Given the description of an element on the screen output the (x, y) to click on. 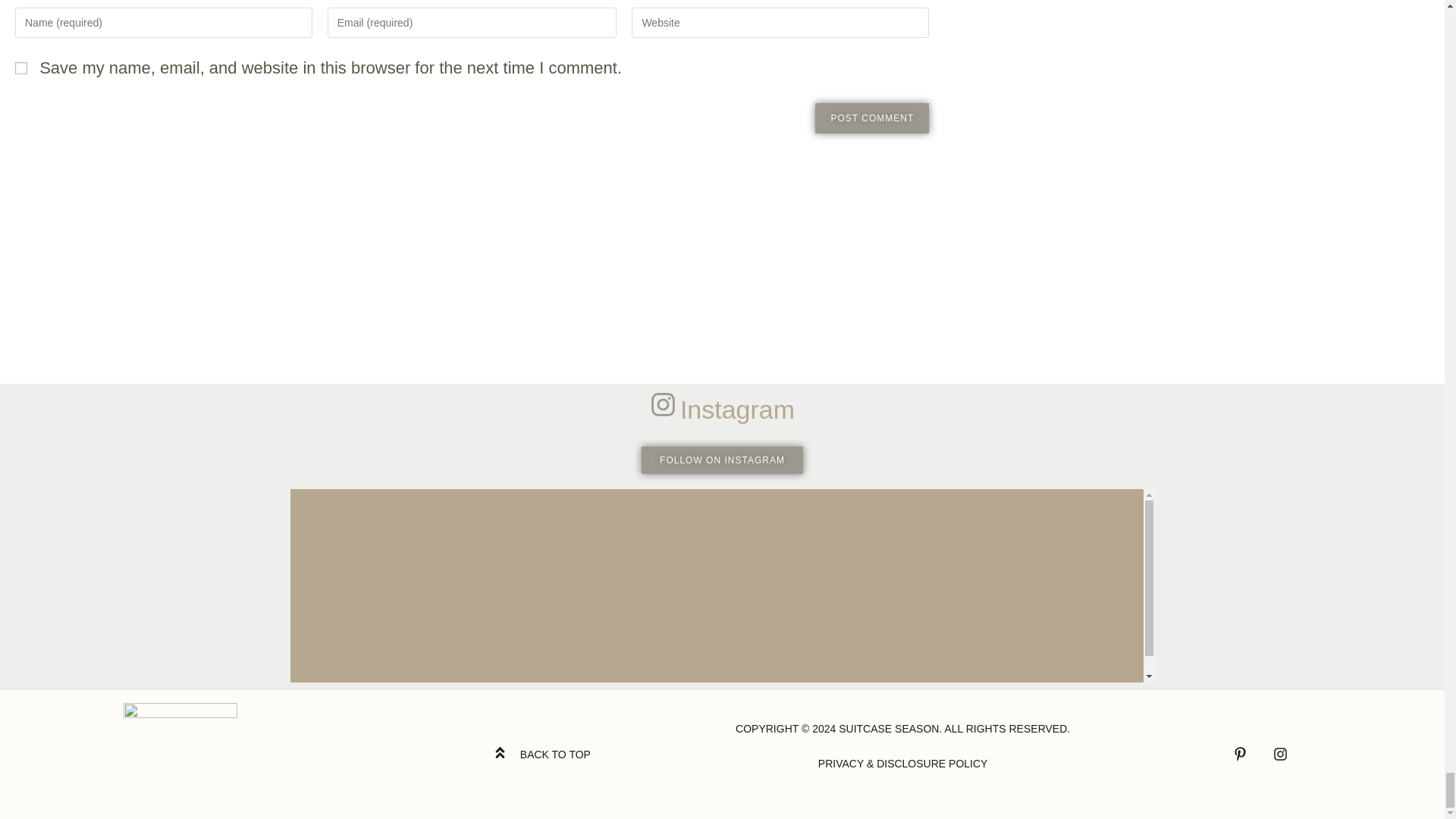
FOLLOW ON INSTAGRAM (722, 460)
yes (20, 68)
Post Comment (871, 118)
Post Comment (871, 118)
